Given the description of an element on the screen output the (x, y) to click on. 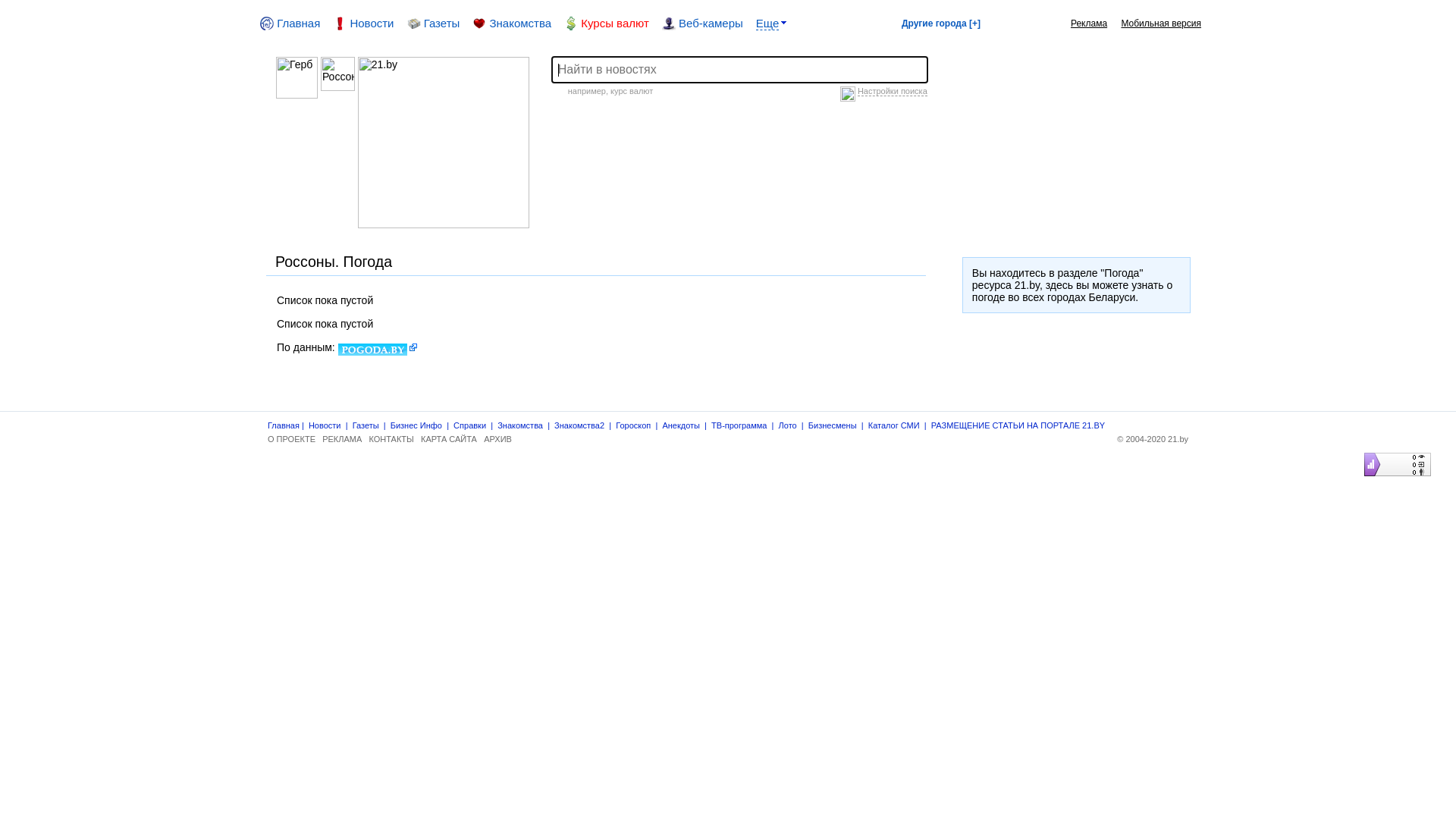
  Element type: text (315, 62)
LiveInternet Element type: hover (1360, 452)
